Given the description of an element on the screen output the (x, y) to click on. 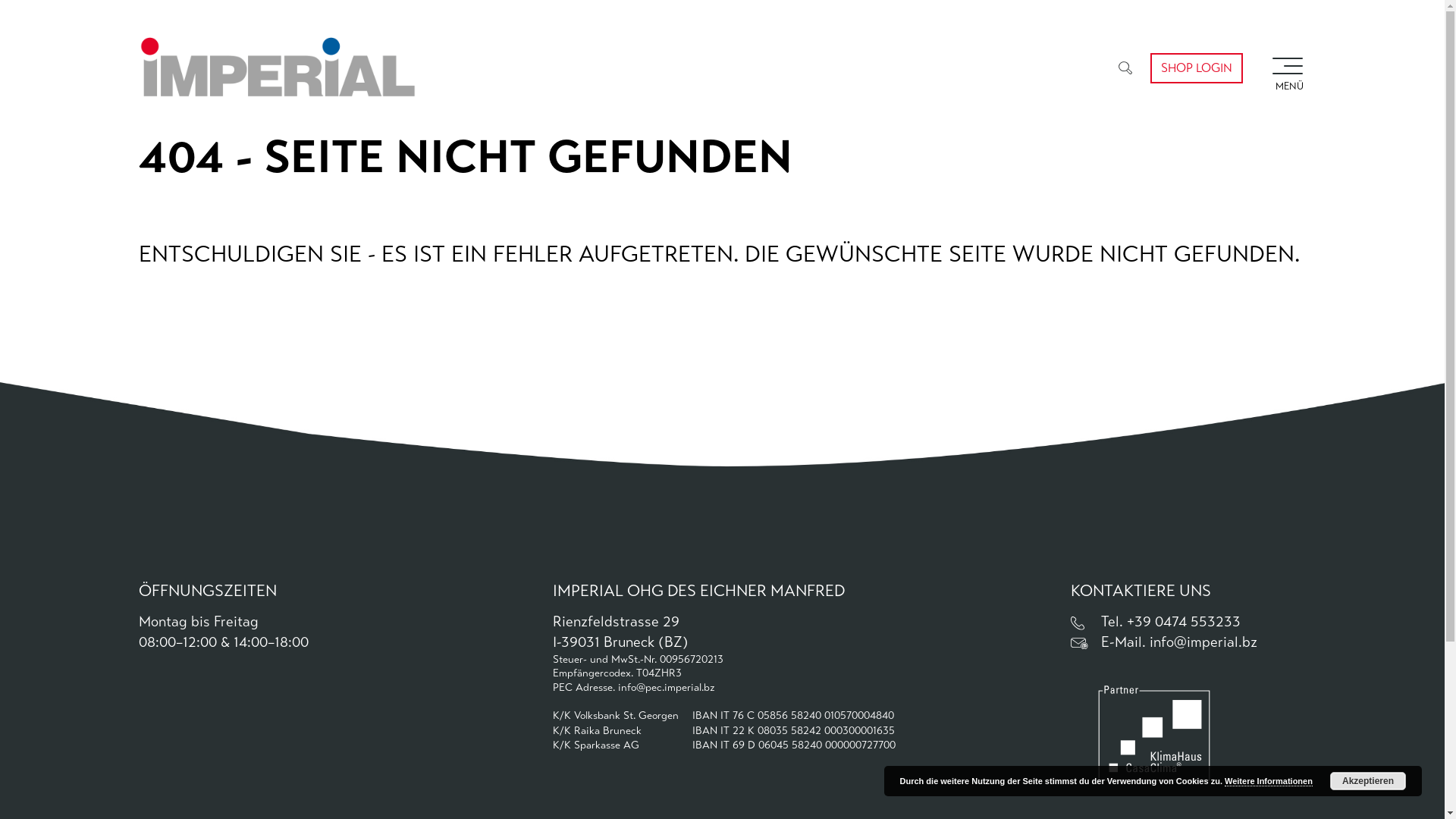
SHOP LOGIN Element type: text (1195, 68)
Akzeptieren Element type: text (1367, 780)
info@imperial.bz Element type: text (1203, 642)
Weitere Informationen Element type: text (1268, 781)
+39 0474 553233 Element type: text (1183, 621)
